Given the description of an element on the screen output the (x, y) to click on. 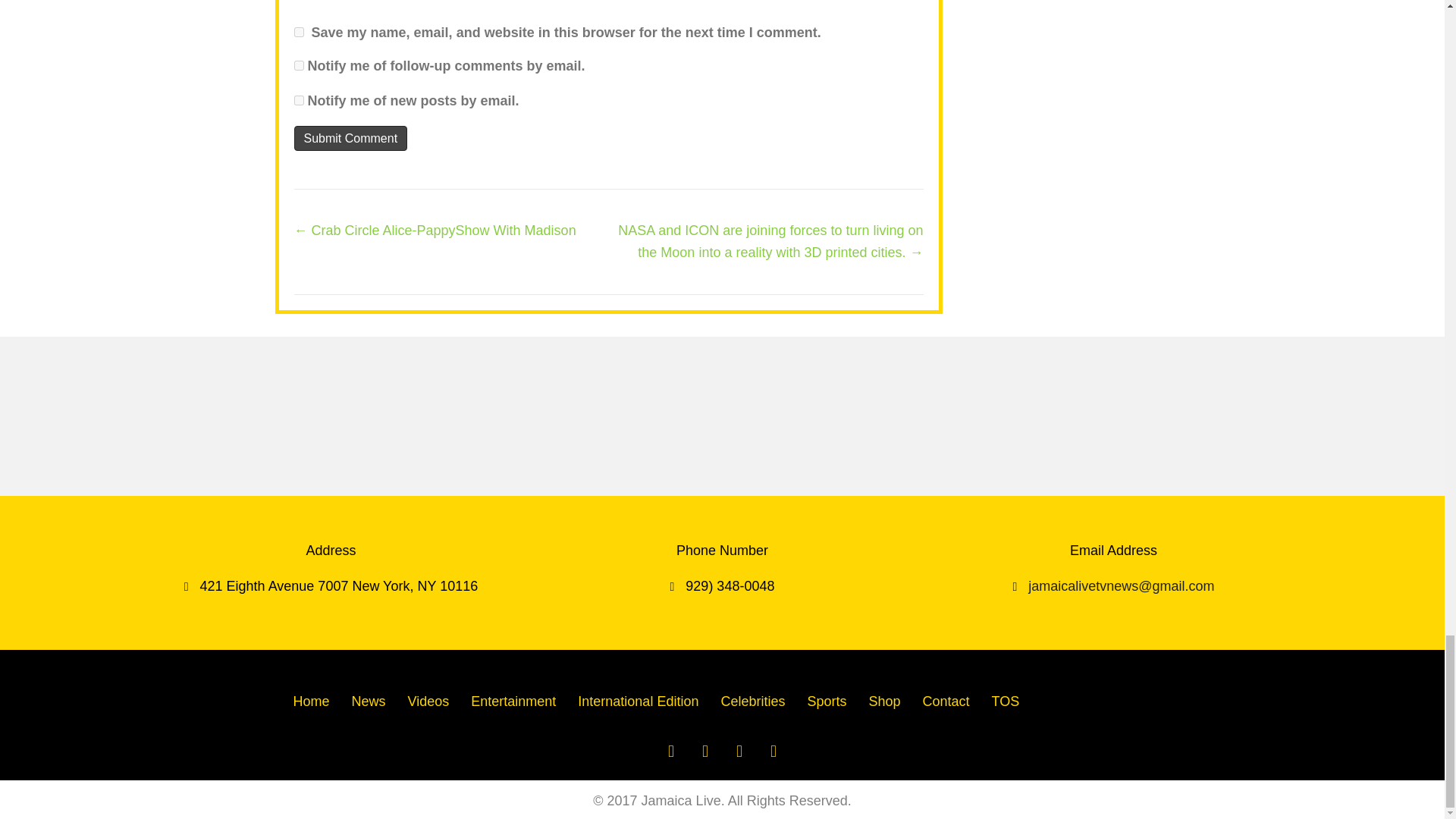
subscribe (299, 100)
yes (299, 31)
subscribe (299, 65)
Submit Comment (350, 138)
Submit Comment (350, 138)
